Given the description of an element on the screen output the (x, y) to click on. 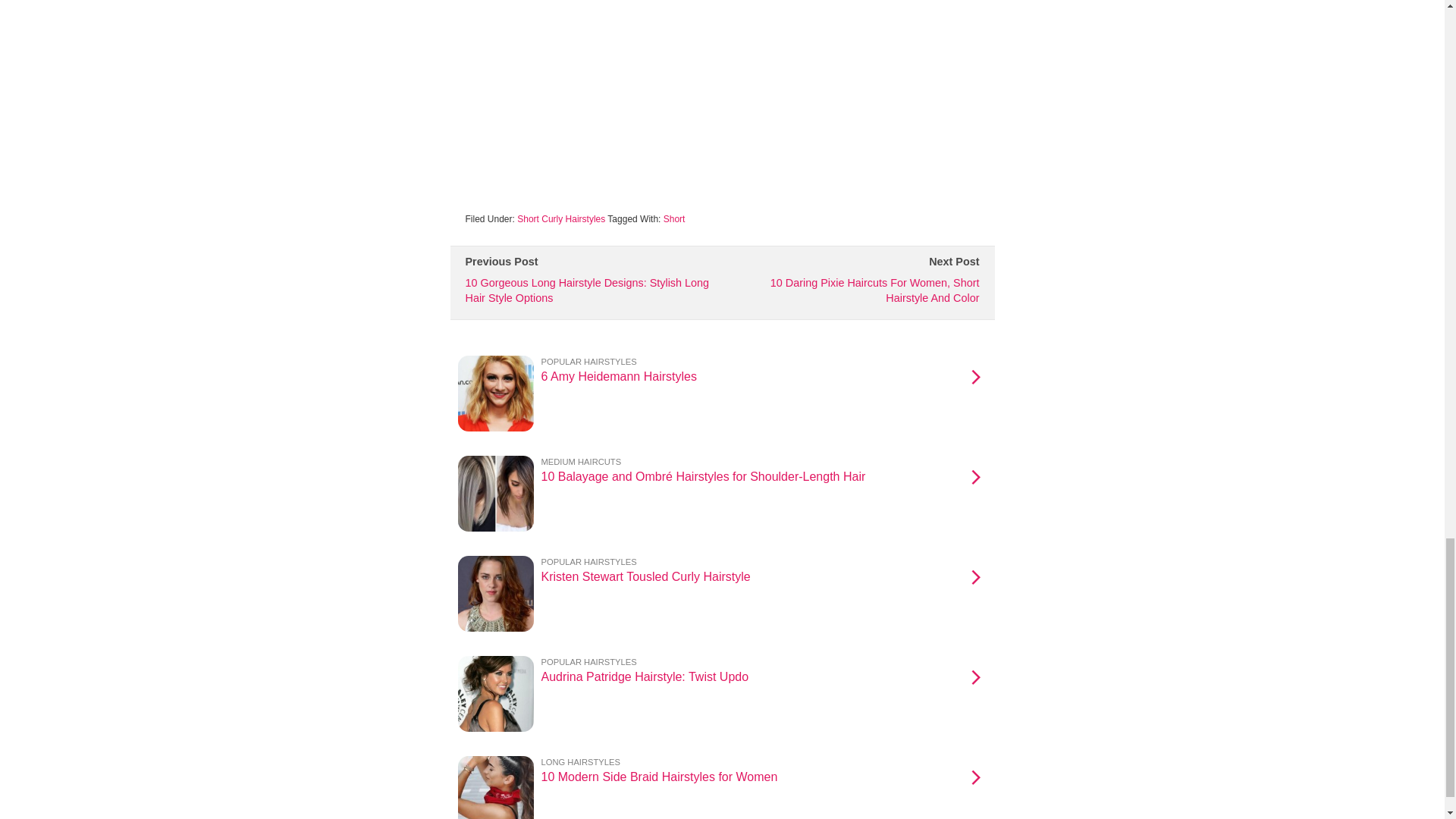
Short Curly Hairstyles (721, 588)
Short (560, 218)
Advertisement (721, 689)
